Given the description of an element on the screen output the (x, y) to click on. 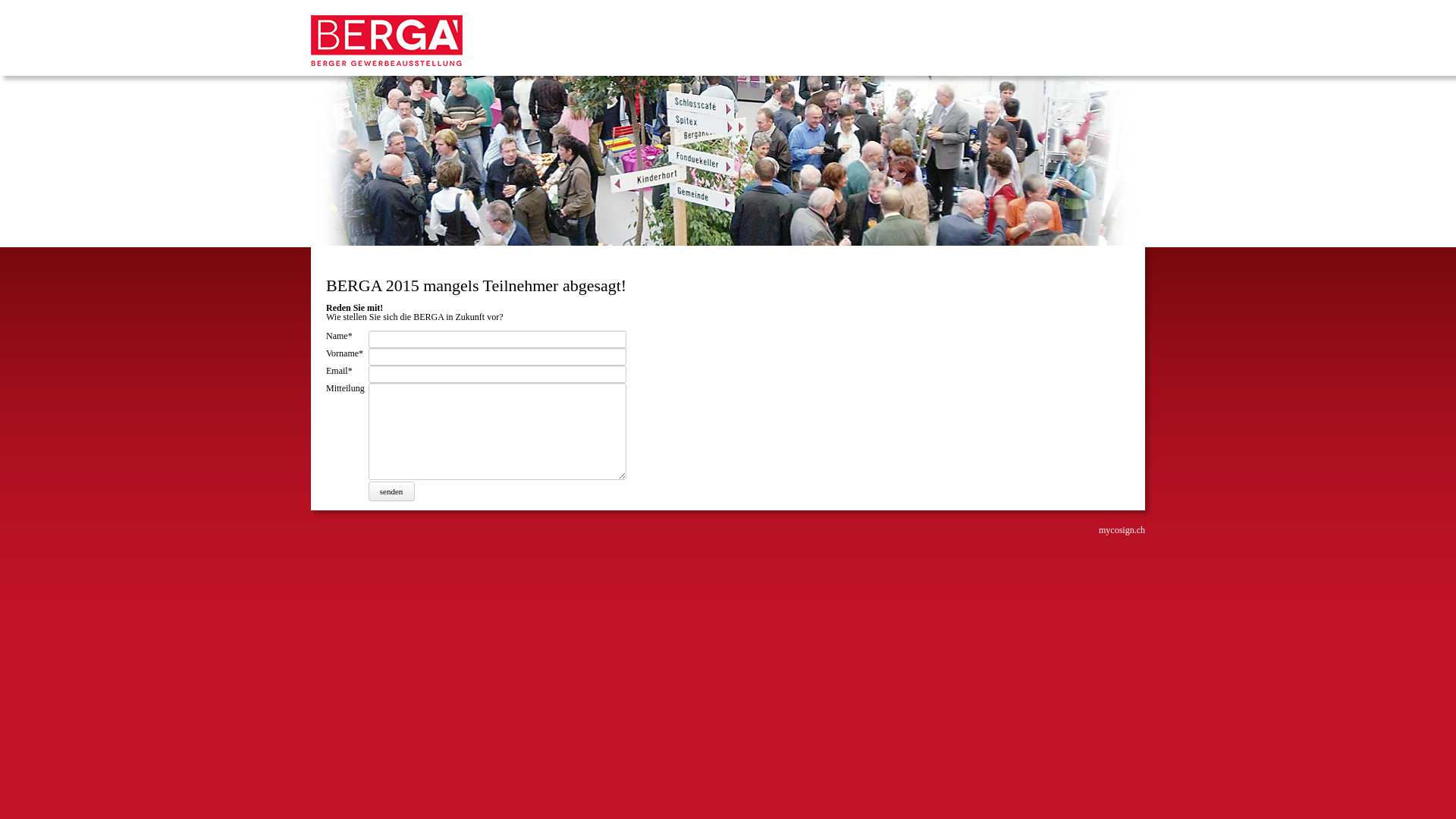
Berga Element type: hover (386, 62)
senden Element type: text (391, 491)
mycosign.ch Element type: text (1121, 529)
